Given the description of an element on the screen output the (x, y) to click on. 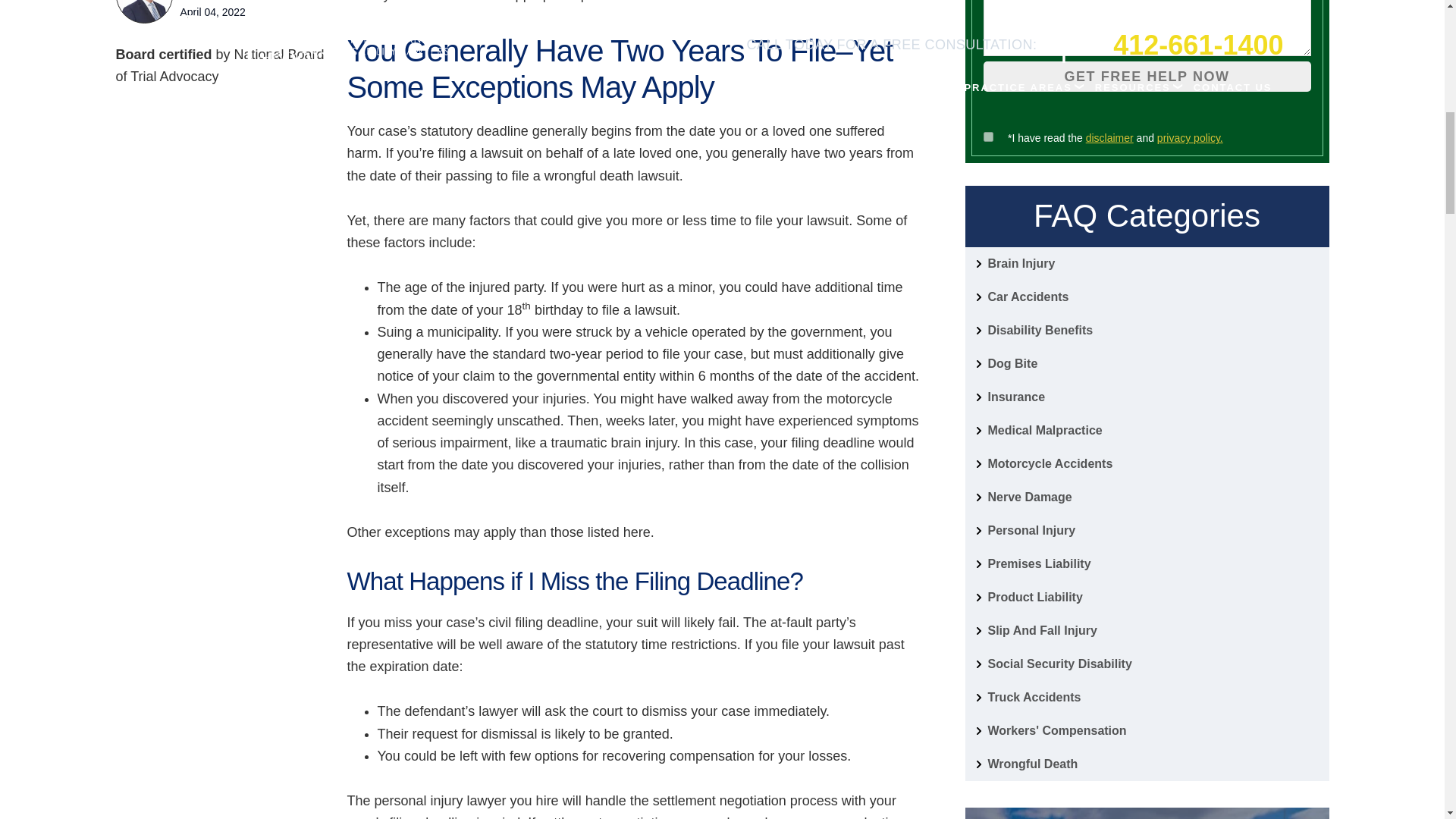
GET FREE HELP NOW (1146, 76)
C. William Kenny (143, 11)
1 (987, 136)
